Given the description of an element on the screen output the (x, y) to click on. 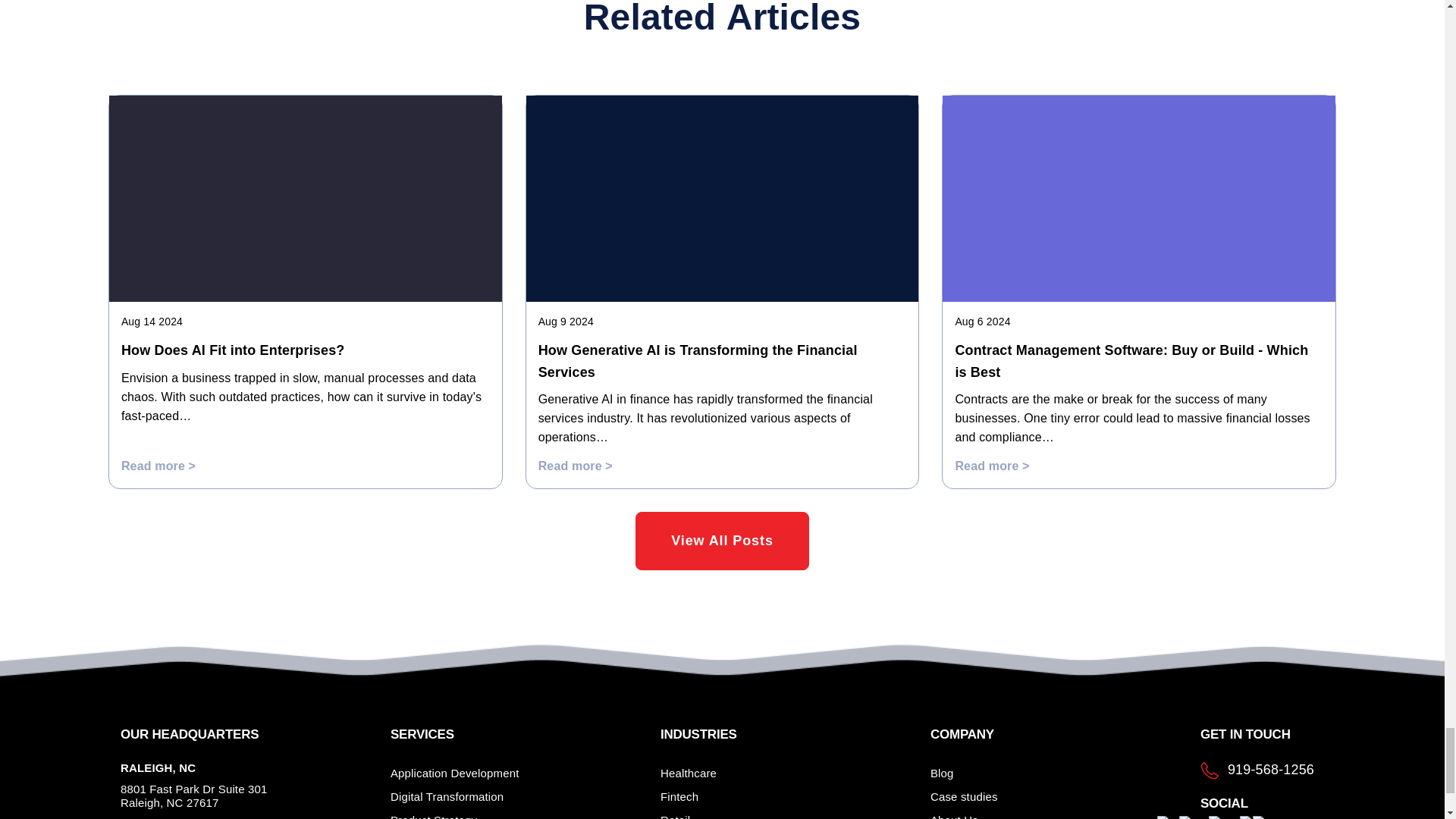
Twitter (1258, 817)
Facebook (1206, 817)
Youtube (1274, 817)
Linkedin (1231, 817)
Instagram (1184, 817)
